Given the description of an element on the screen output the (x, y) to click on. 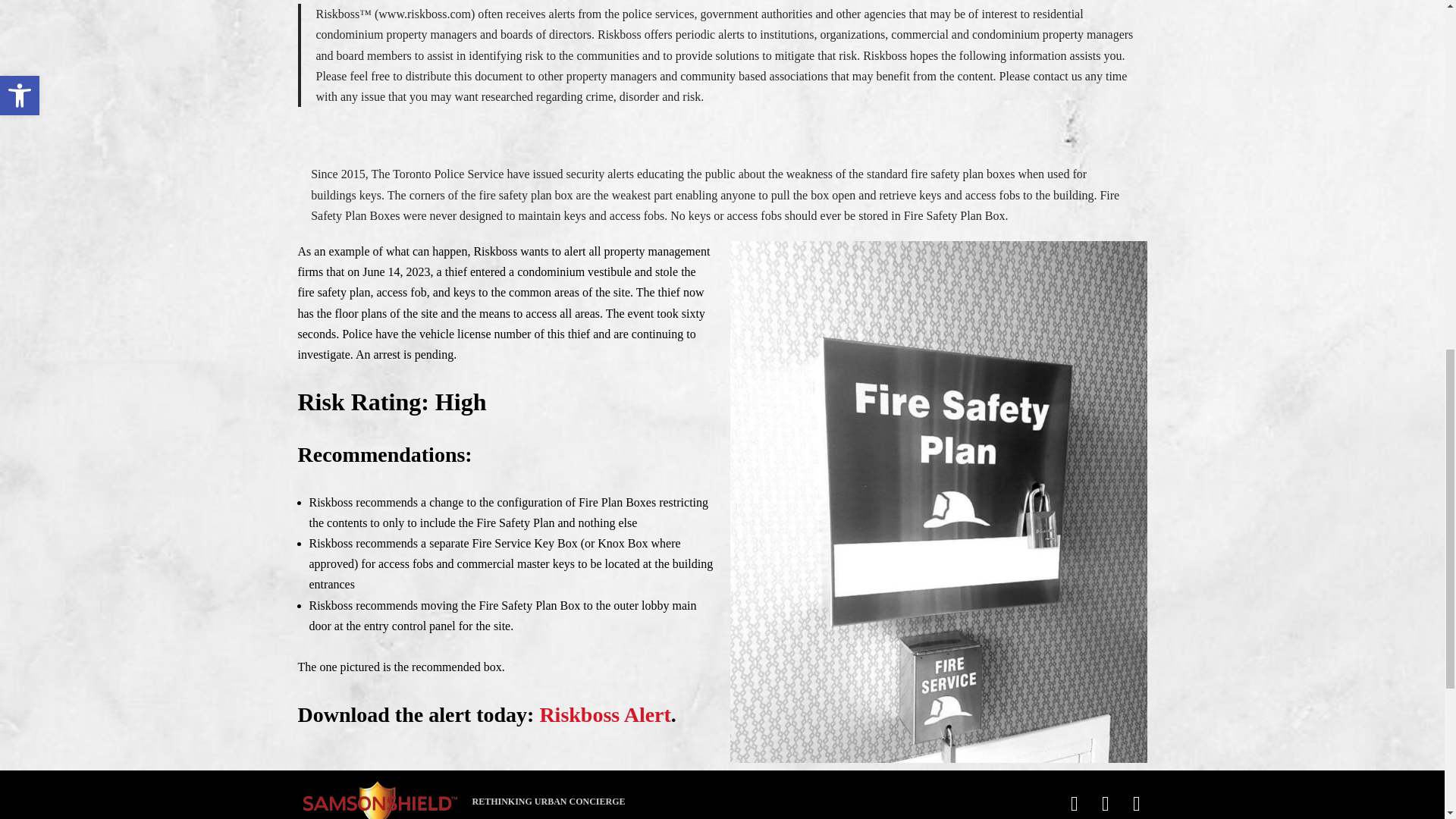
Riskboss Alert (603, 714)
